Given the description of an element on the screen output the (x, y) to click on. 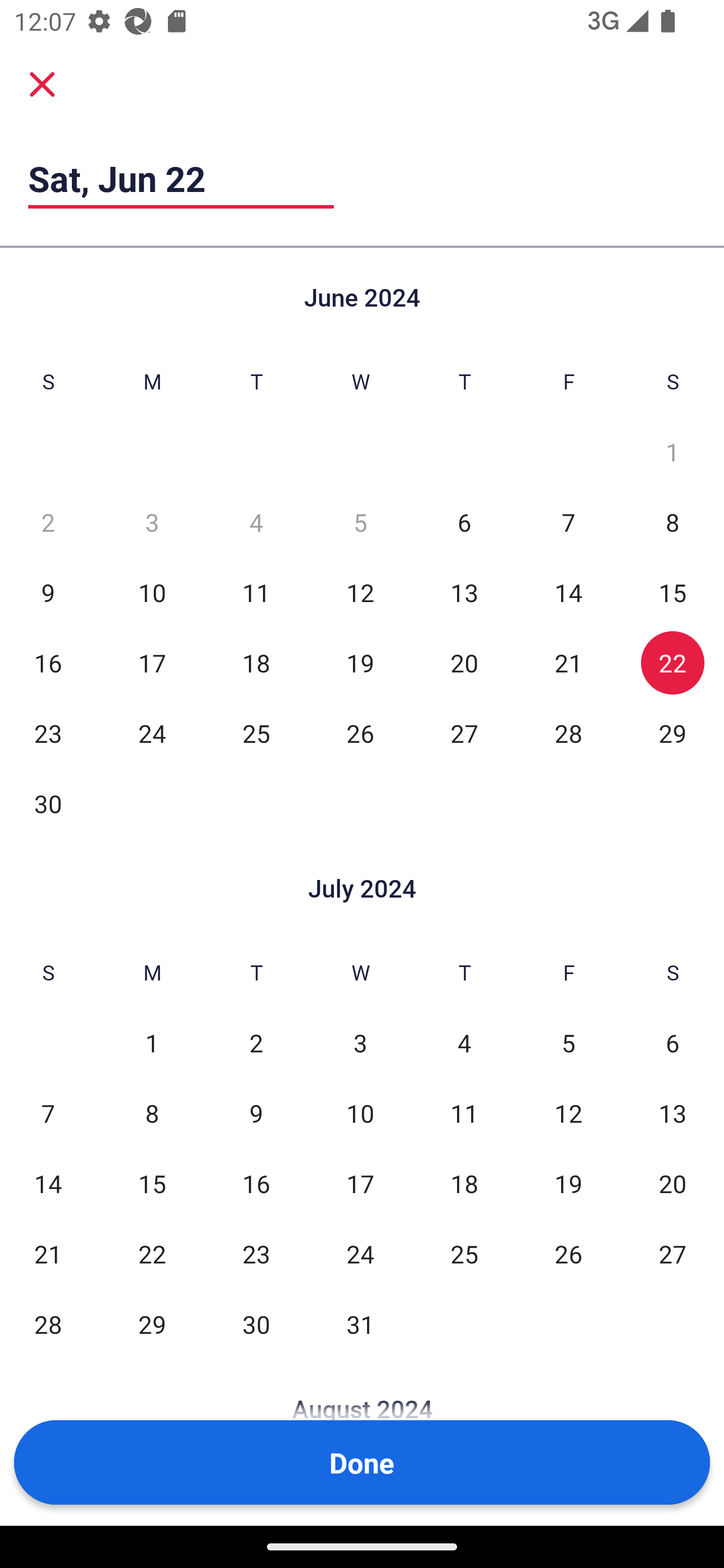
Cancel (42, 84)
Sat, Jun 22 (180, 178)
1 Sat, Jun 1, Not Selected (672, 452)
2 Sun, Jun 2, Not Selected (48, 521)
3 Mon, Jun 3, Not Selected (152, 521)
4 Tue, Jun 4, Not Selected (256, 521)
5 Wed, Jun 5, Not Selected (360, 521)
6 Thu, Jun 6, Not Selected (464, 521)
7 Fri, Jun 7, Not Selected (568, 521)
8 Sat, Jun 8, Not Selected (672, 521)
9 Sun, Jun 9, Not Selected (48, 591)
10 Mon, Jun 10, Not Selected (152, 591)
11 Tue, Jun 11, Not Selected (256, 591)
12 Wed, Jun 12, Not Selected (360, 591)
13 Thu, Jun 13, Not Selected (464, 591)
14 Fri, Jun 14, Not Selected (568, 591)
15 Sat, Jun 15, Not Selected (672, 591)
16 Sun, Jun 16, Not Selected (48, 662)
17 Mon, Jun 17, Not Selected (152, 662)
18 Tue, Jun 18, Not Selected (256, 662)
19 Wed, Jun 19, Not Selected (360, 662)
20 Thu, Jun 20, Not Selected (464, 662)
21 Fri, Jun 21, Not Selected (568, 662)
22 Sat, Jun 22, Selected (672, 662)
23 Sun, Jun 23, Not Selected (48, 732)
24 Mon, Jun 24, Not Selected (152, 732)
25 Tue, Jun 25, Not Selected (256, 732)
26 Wed, Jun 26, Not Selected (360, 732)
27 Thu, Jun 27, Not Selected (464, 732)
28 Fri, Jun 28, Not Selected (568, 732)
29 Sat, Jun 29, Not Selected (672, 732)
30 Sun, Jun 30, Not Selected (48, 803)
1 Mon, Jul 1, Not Selected (152, 1043)
2 Tue, Jul 2, Not Selected (256, 1043)
3 Wed, Jul 3, Not Selected (360, 1043)
4 Thu, Jul 4, Not Selected (464, 1043)
5 Fri, Jul 5, Not Selected (568, 1043)
6 Sat, Jul 6, Not Selected (672, 1043)
7 Sun, Jul 7, Not Selected (48, 1112)
8 Mon, Jul 8, Not Selected (152, 1112)
9 Tue, Jul 9, Not Selected (256, 1112)
10 Wed, Jul 10, Not Selected (360, 1112)
11 Thu, Jul 11, Not Selected (464, 1112)
12 Fri, Jul 12, Not Selected (568, 1112)
13 Sat, Jul 13, Not Selected (672, 1112)
14 Sun, Jul 14, Not Selected (48, 1182)
15 Mon, Jul 15, Not Selected (152, 1182)
16 Tue, Jul 16, Not Selected (256, 1182)
17 Wed, Jul 17, Not Selected (360, 1182)
18 Thu, Jul 18, Not Selected (464, 1182)
19 Fri, Jul 19, Not Selected (568, 1182)
20 Sat, Jul 20, Not Selected (672, 1182)
21 Sun, Jul 21, Not Selected (48, 1253)
22 Mon, Jul 22, Not Selected (152, 1253)
23 Tue, Jul 23, Not Selected (256, 1253)
24 Wed, Jul 24, Not Selected (360, 1253)
25 Thu, Jul 25, Not Selected (464, 1253)
26 Fri, Jul 26, Not Selected (568, 1253)
27 Sat, Jul 27, Not Selected (672, 1253)
28 Sun, Jul 28, Not Selected (48, 1323)
29 Mon, Jul 29, Not Selected (152, 1323)
30 Tue, Jul 30, Not Selected (256, 1323)
31 Wed, Jul 31, Not Selected (360, 1323)
Done Button Done (361, 1462)
